Given the description of an element on the screen output the (x, y) to click on. 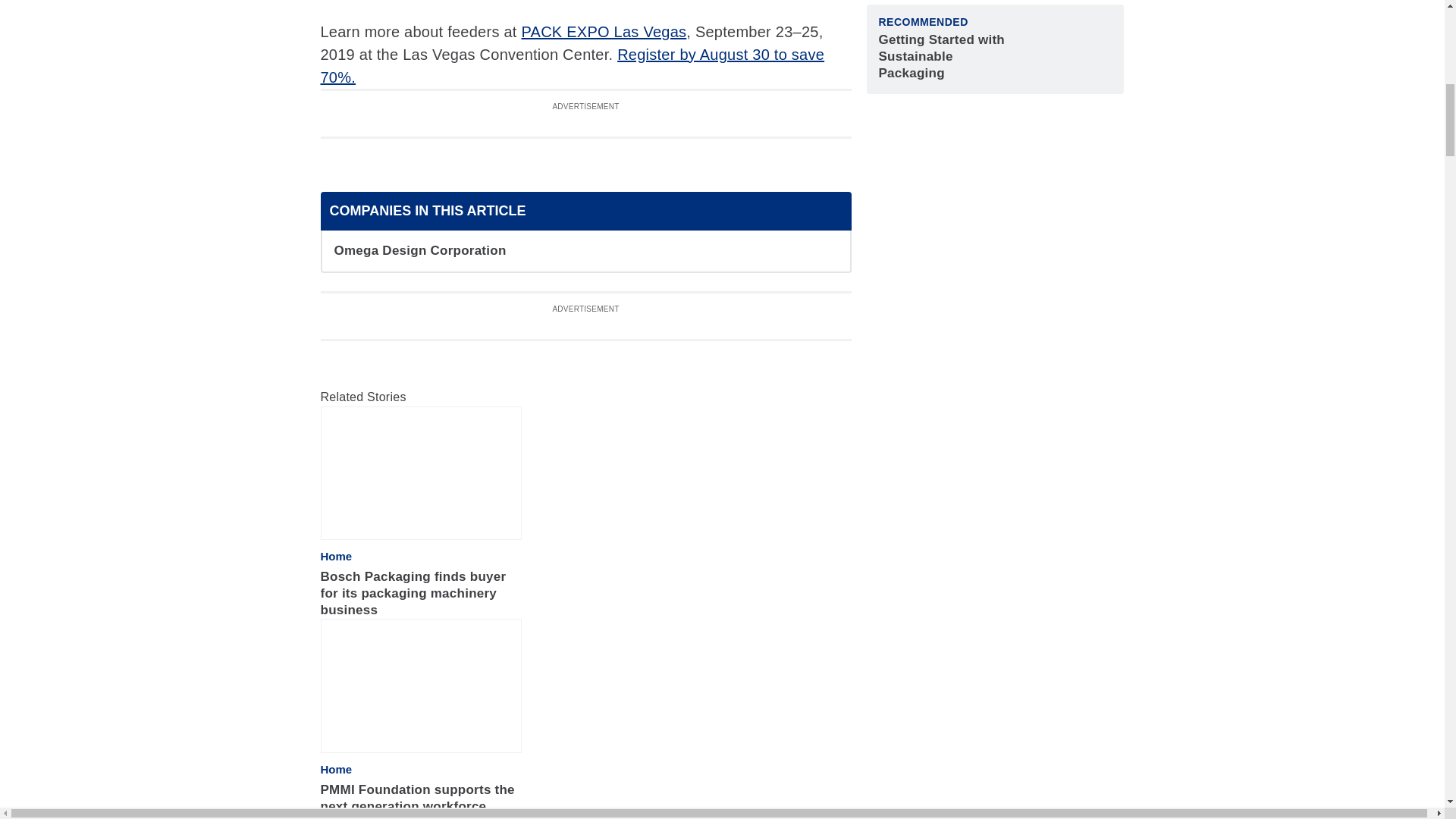
Home (336, 556)
Recommended (922, 21)
Home (336, 769)
